Given the description of an element on the screen output the (x, y) to click on. 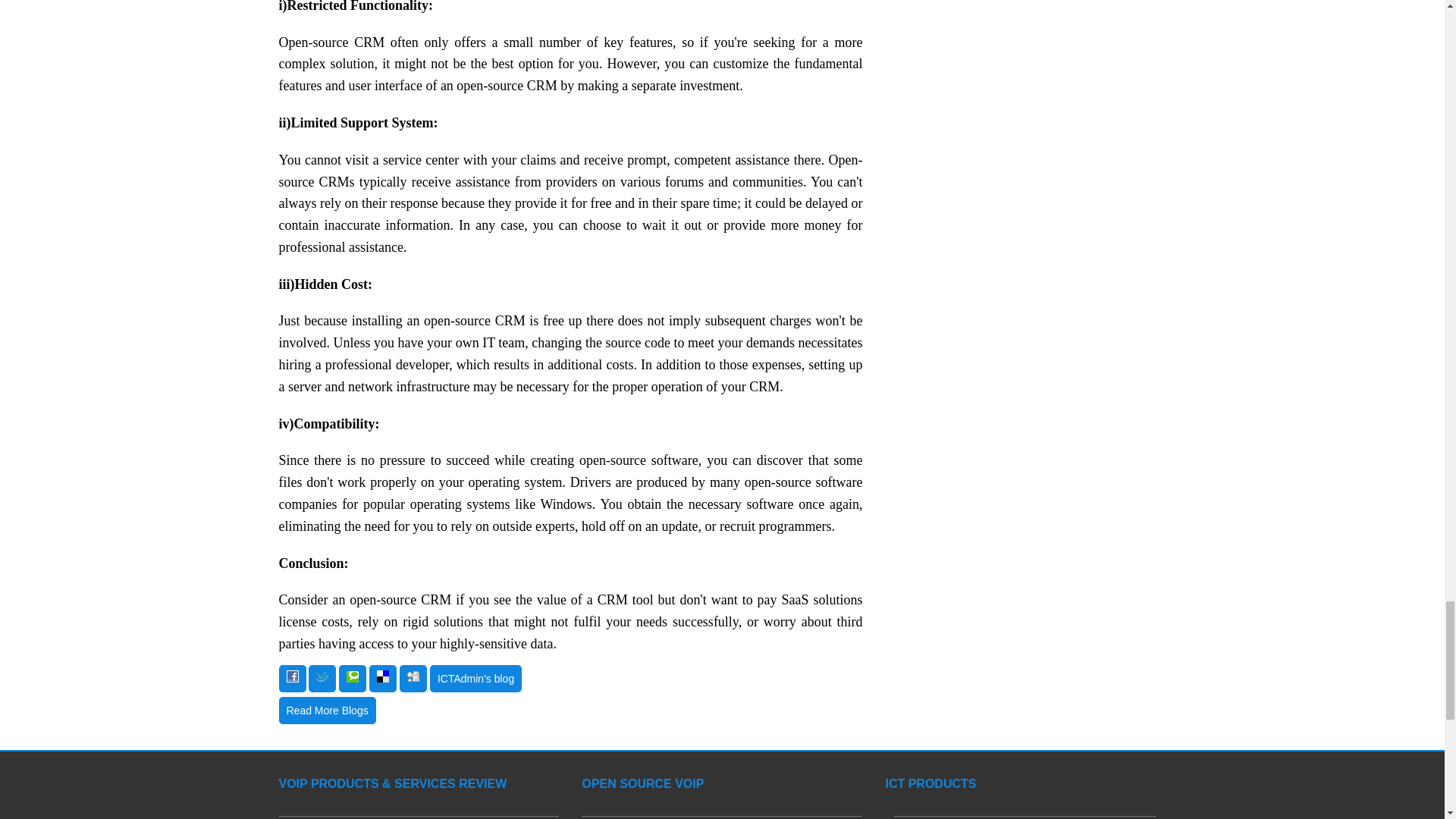
Search Technorati for links to this post (352, 678)
Bookmark this post on del.icio.us (382, 678)
Read ICTAdmin's latest blog entries. (475, 678)
Share this on Twitter (322, 678)
ICTAdmin's blog (475, 678)
Read More Blogs (327, 709)
Share on Facebook (292, 678)
Digg this post on digg.com (412, 678)
